Given the description of an element on the screen output the (x, y) to click on. 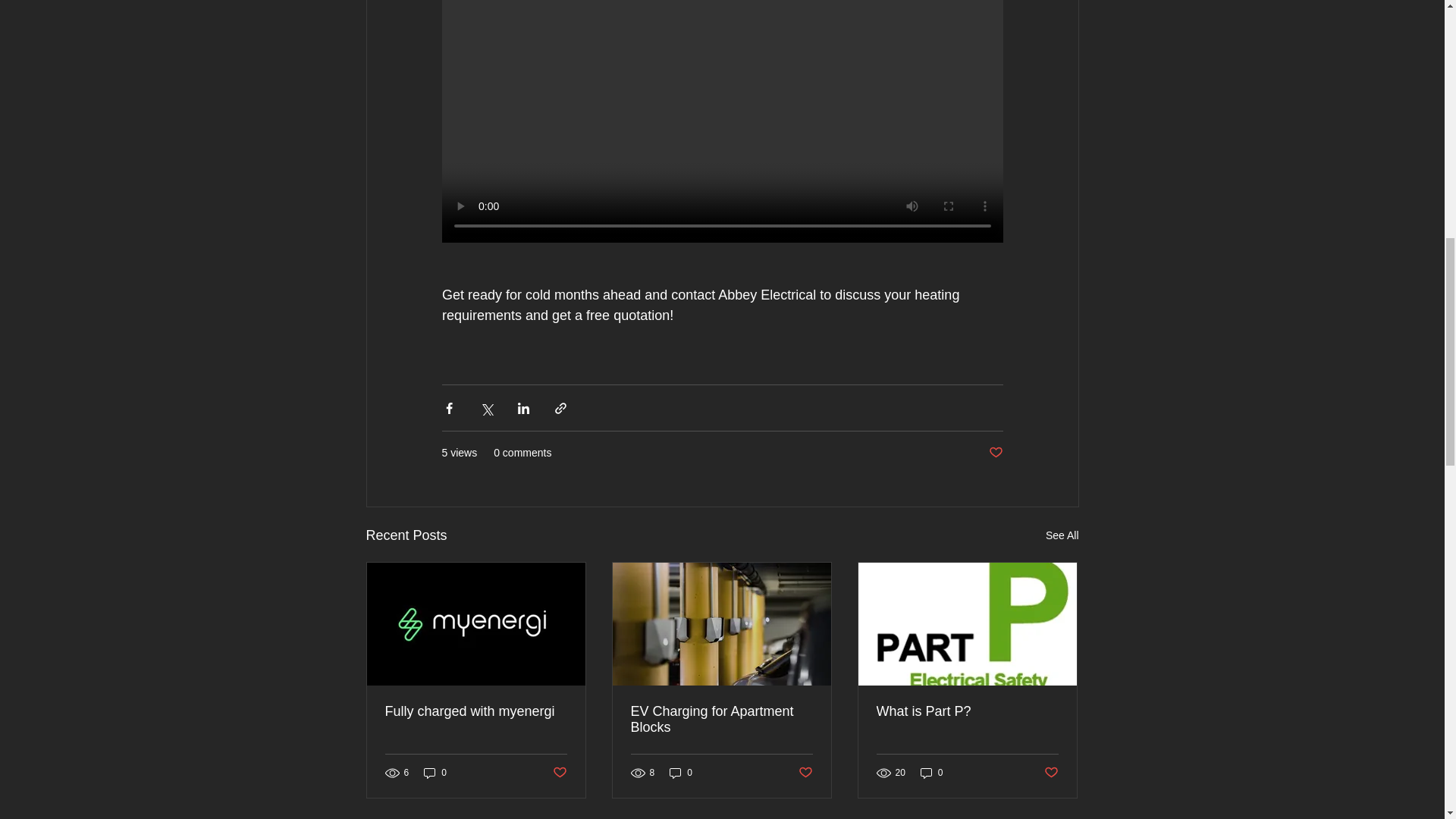
EV Charging for Apartment Blocks (721, 719)
Post not marked as liked (558, 772)
0 (931, 772)
See All (1061, 535)
Fully charged with myenergi (476, 711)
Post not marked as liked (1050, 772)
What is Part P? (967, 711)
Post not marked as liked (995, 453)
Post not marked as liked (804, 772)
0 (435, 772)
